Given the description of an element on the screen output the (x, y) to click on. 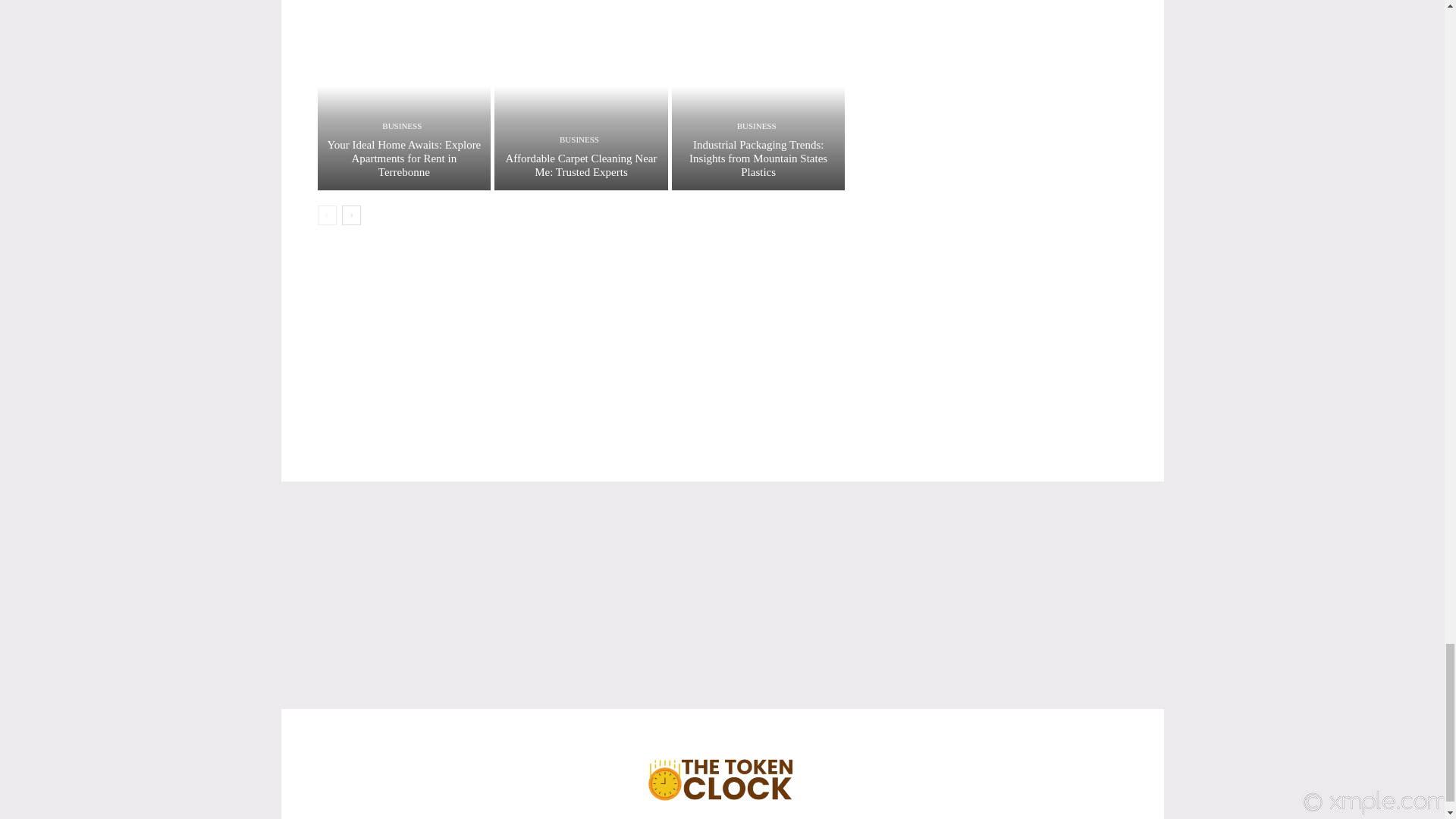
Affordable Carpet Cleaning Near Me: Trusted Experts (581, 95)
Affordable Carpet Cleaning Near Me: Trusted Experts (580, 165)
